Given the description of an element on the screen output the (x, y) to click on. 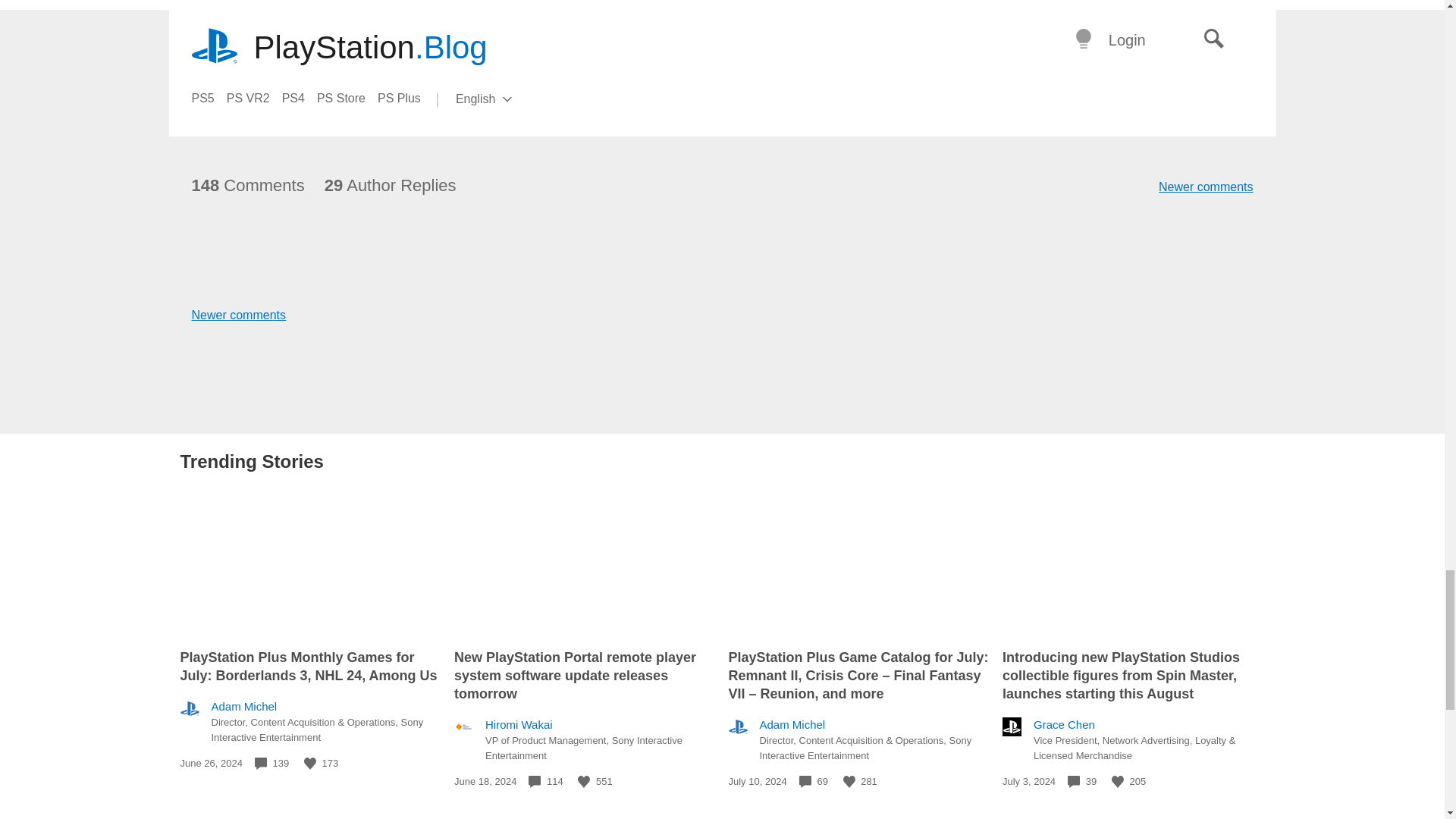
Like this (849, 781)
Like this (1118, 781)
Like this (309, 763)
Like this (583, 781)
